Given the description of an element on the screen output the (x, y) to click on. 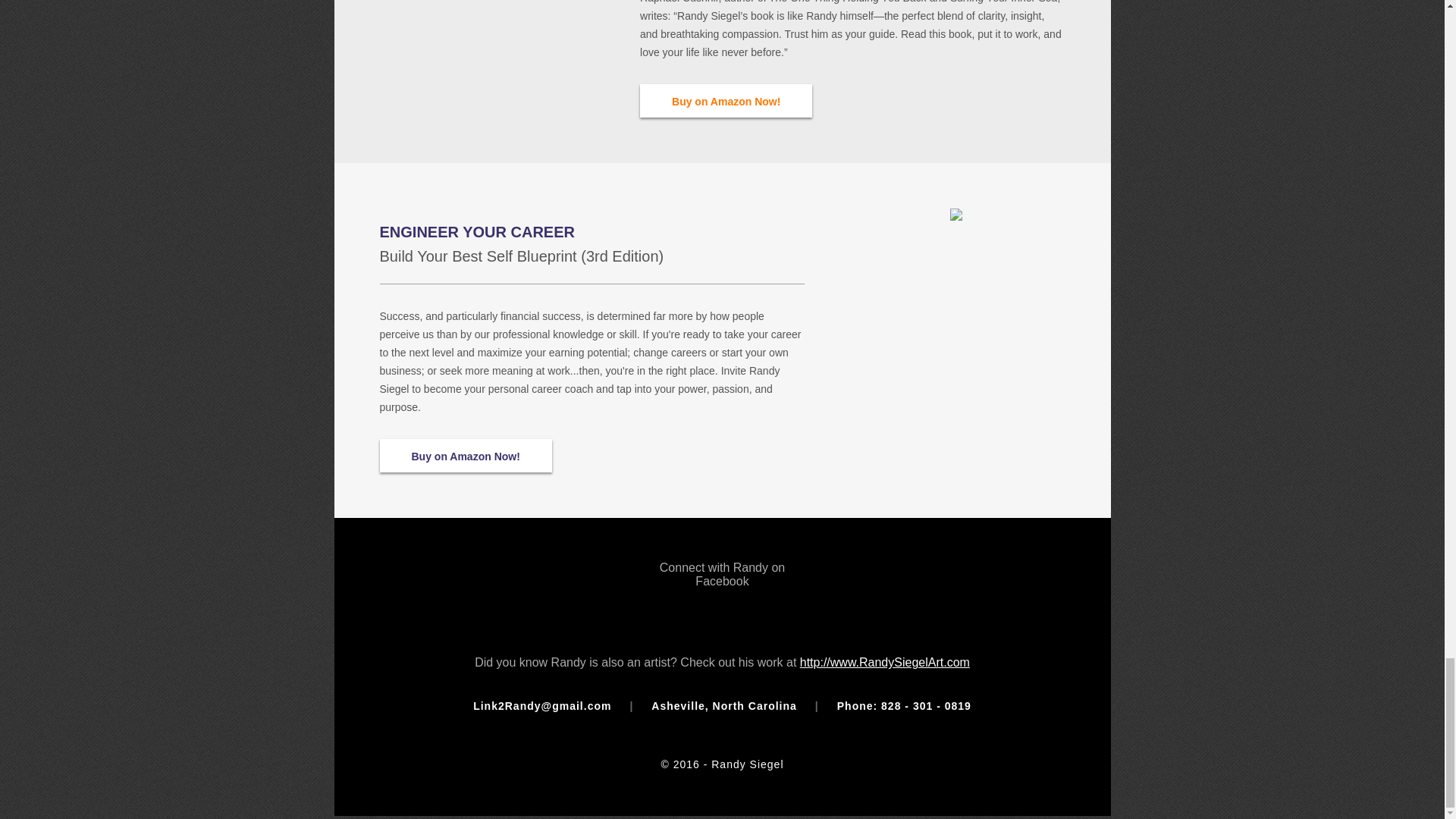
Buy on Amazon Now! (726, 100)
Connect with Randy on Facebook (721, 595)
Buy on Amazon Now! (464, 455)
